Given the description of an element on the screen output the (x, y) to click on. 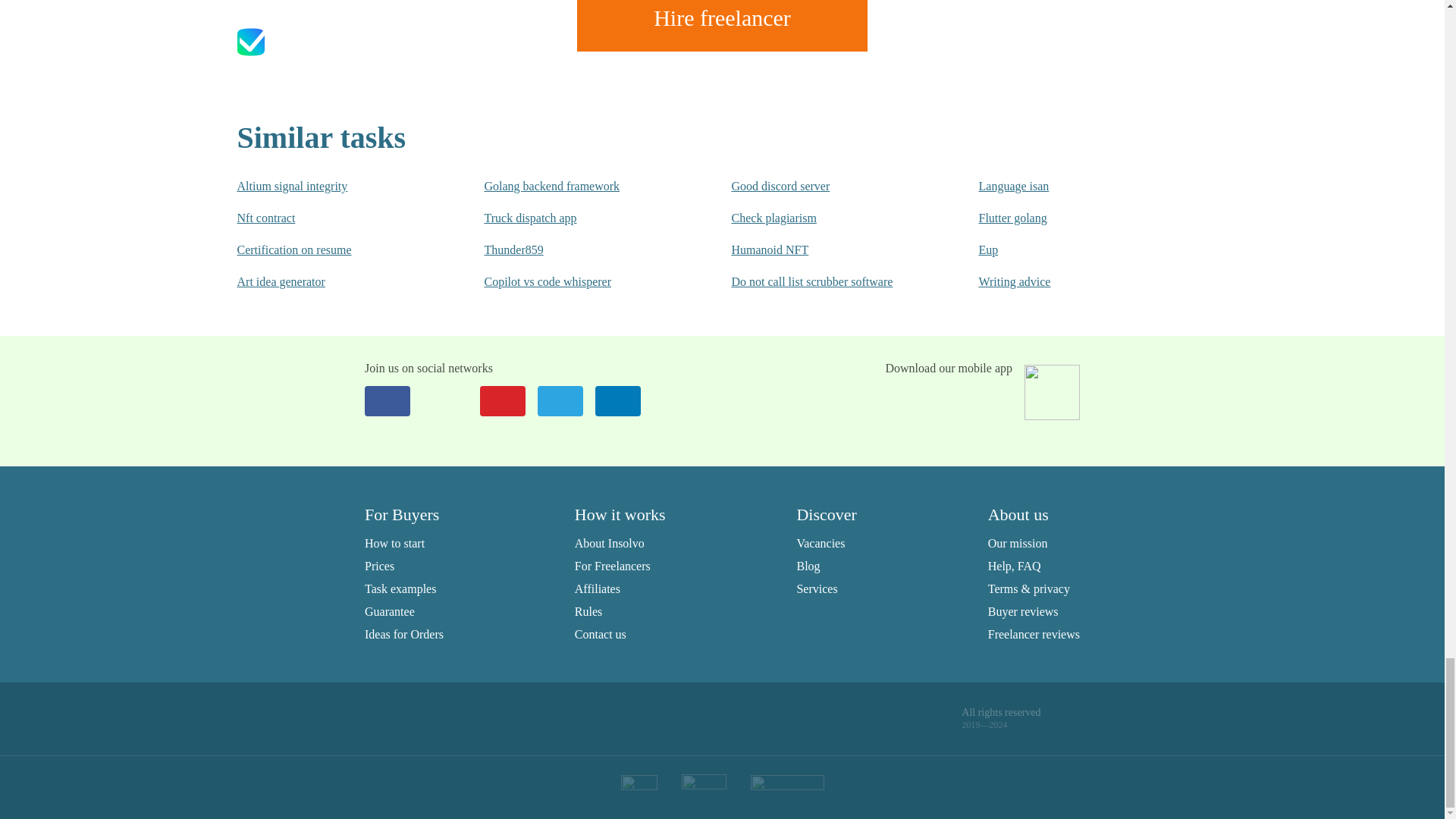
Writing advice (1071, 281)
Copilot vs code whisperer (576, 281)
Certification on resume (329, 249)
Nft contract (329, 217)
Guarantee (389, 611)
About Insolvo (610, 543)
How to start (395, 543)
Affiliates (597, 588)
Hire freelancer (721, 25)
Good discord server (823, 186)
Task examples (400, 588)
Eup (1071, 249)
Ideas for Orders (404, 634)
Altium signal integrity (329, 186)
Language isan (1071, 186)
